Given the description of an element on the screen output the (x, y) to click on. 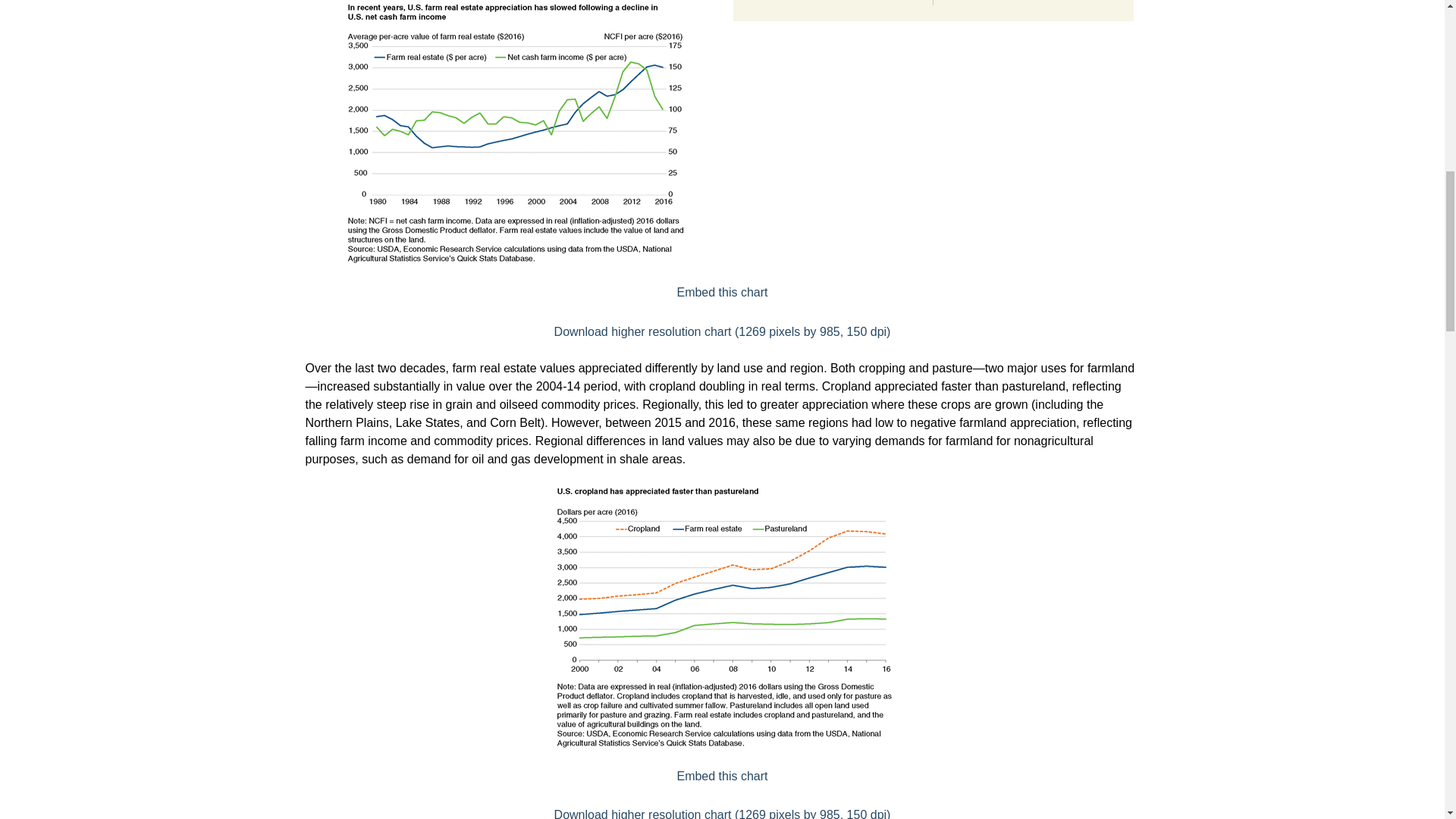
Embed this chart (722, 775)
U.S. cropland has appreciated faster than pastureland (722, 775)
Embed this chart (722, 291)
